Given the description of an element on the screen output the (x, y) to click on. 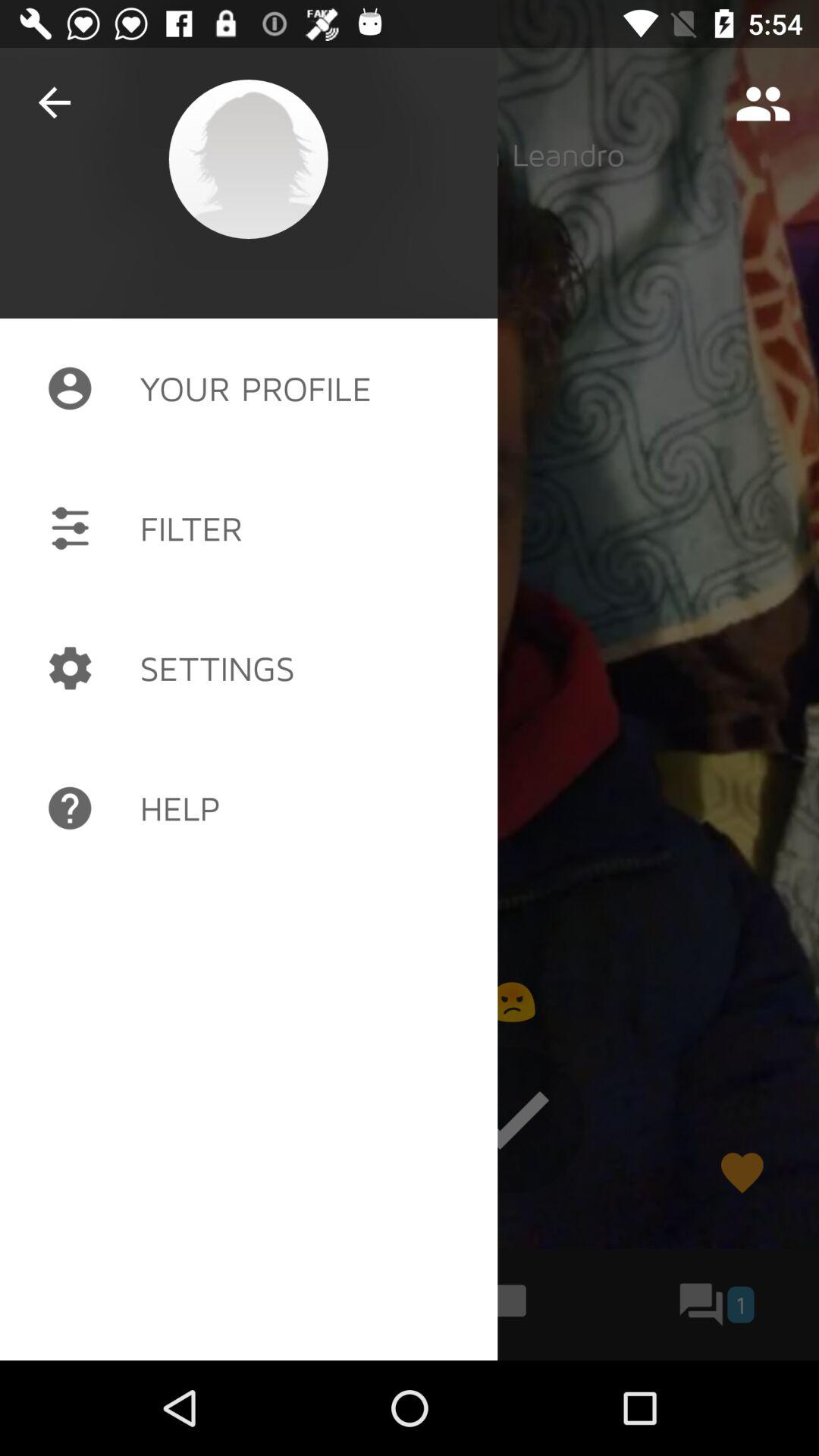
select the symbol at the right bottom of the page (742, 1173)
